Given the description of an element on the screen output the (x, y) to click on. 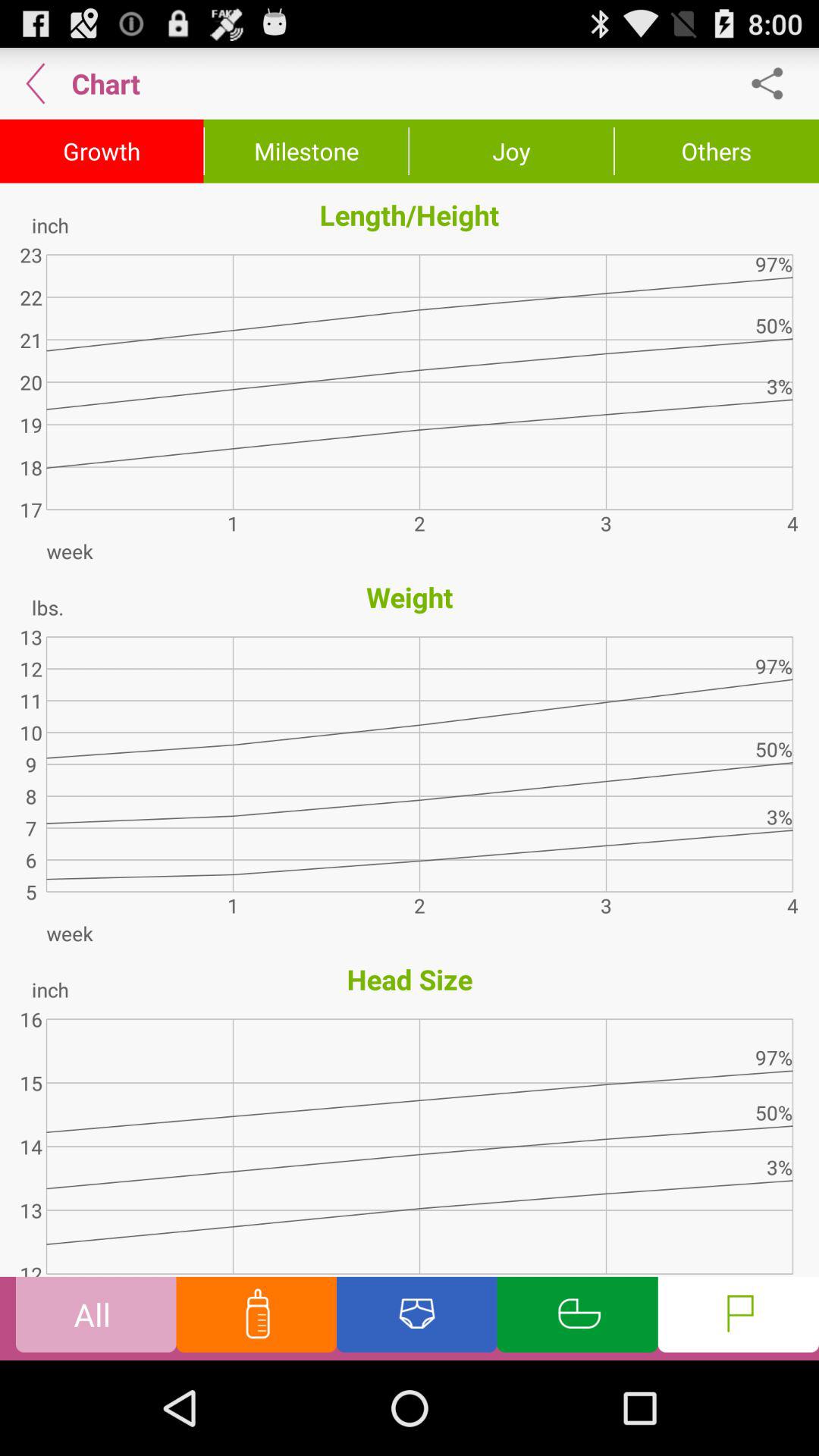
press the joy (511, 151)
